Given the description of an element on the screen output the (x, y) to click on. 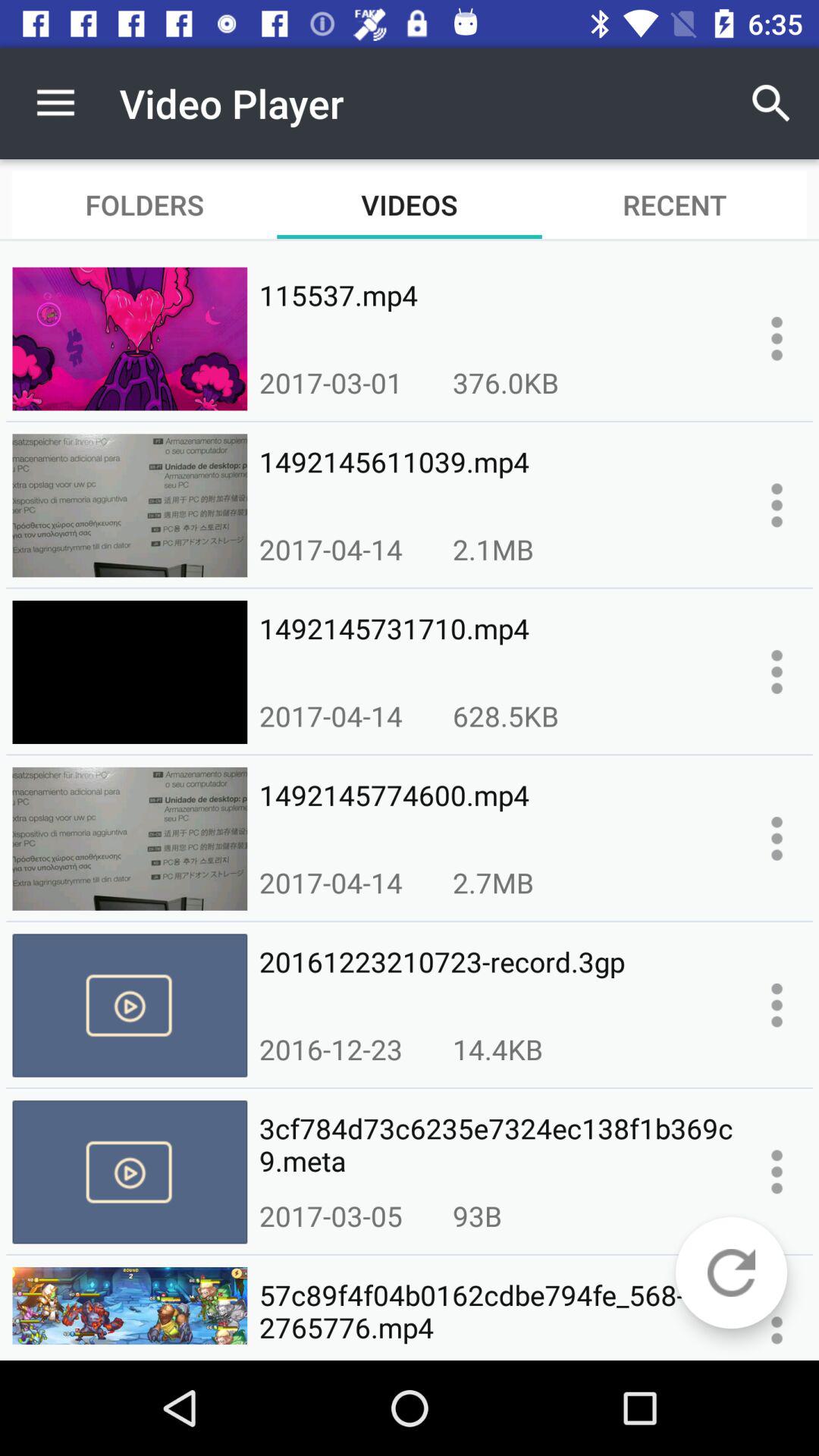
see options for this track (776, 671)
